Given the description of an element on the screen output the (x, y) to click on. 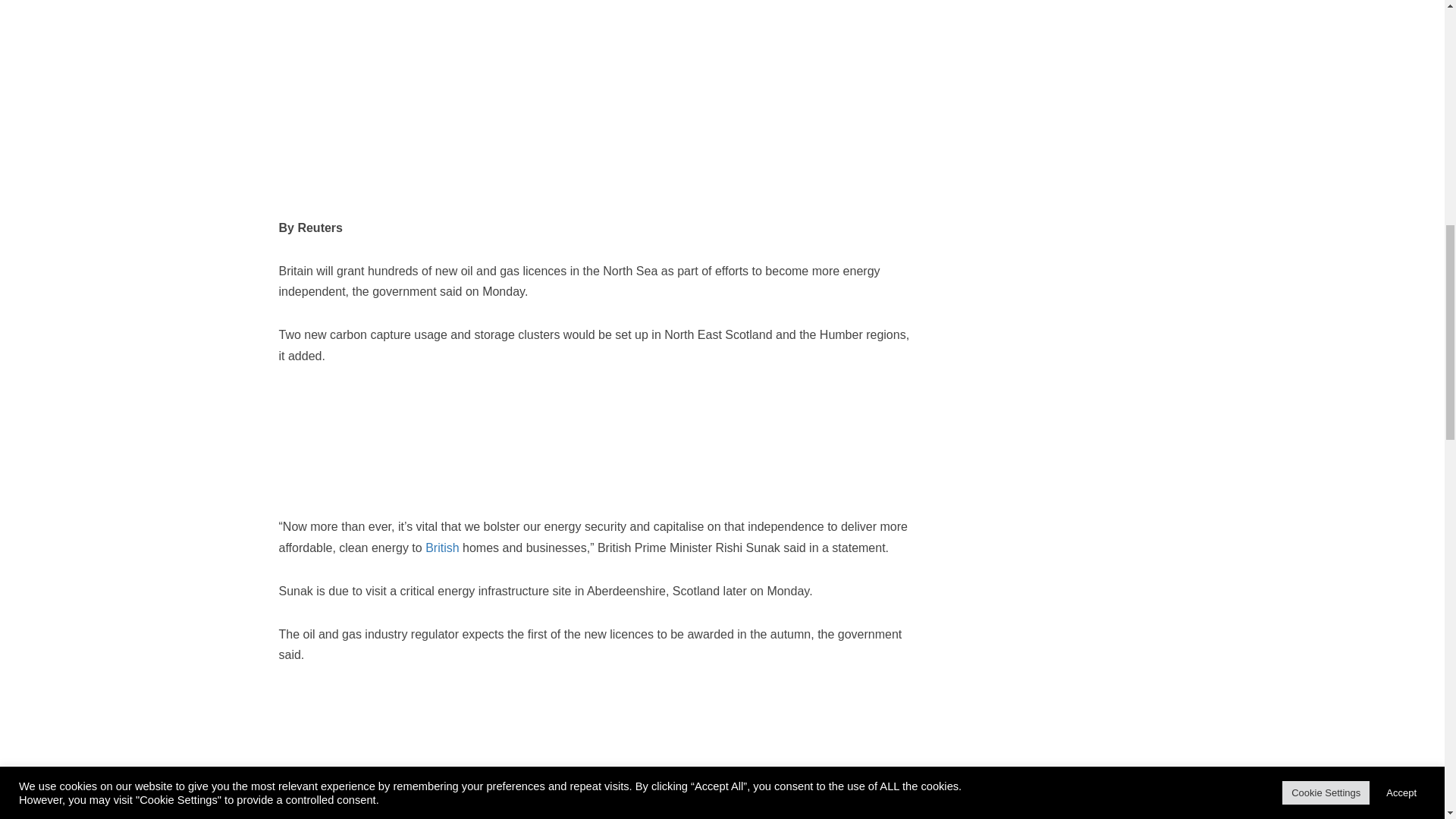
Advertisement (1052, 484)
Advertisement (1052, 63)
Advertisement (555, 154)
